Given the description of an element on the screen output the (x, y) to click on. 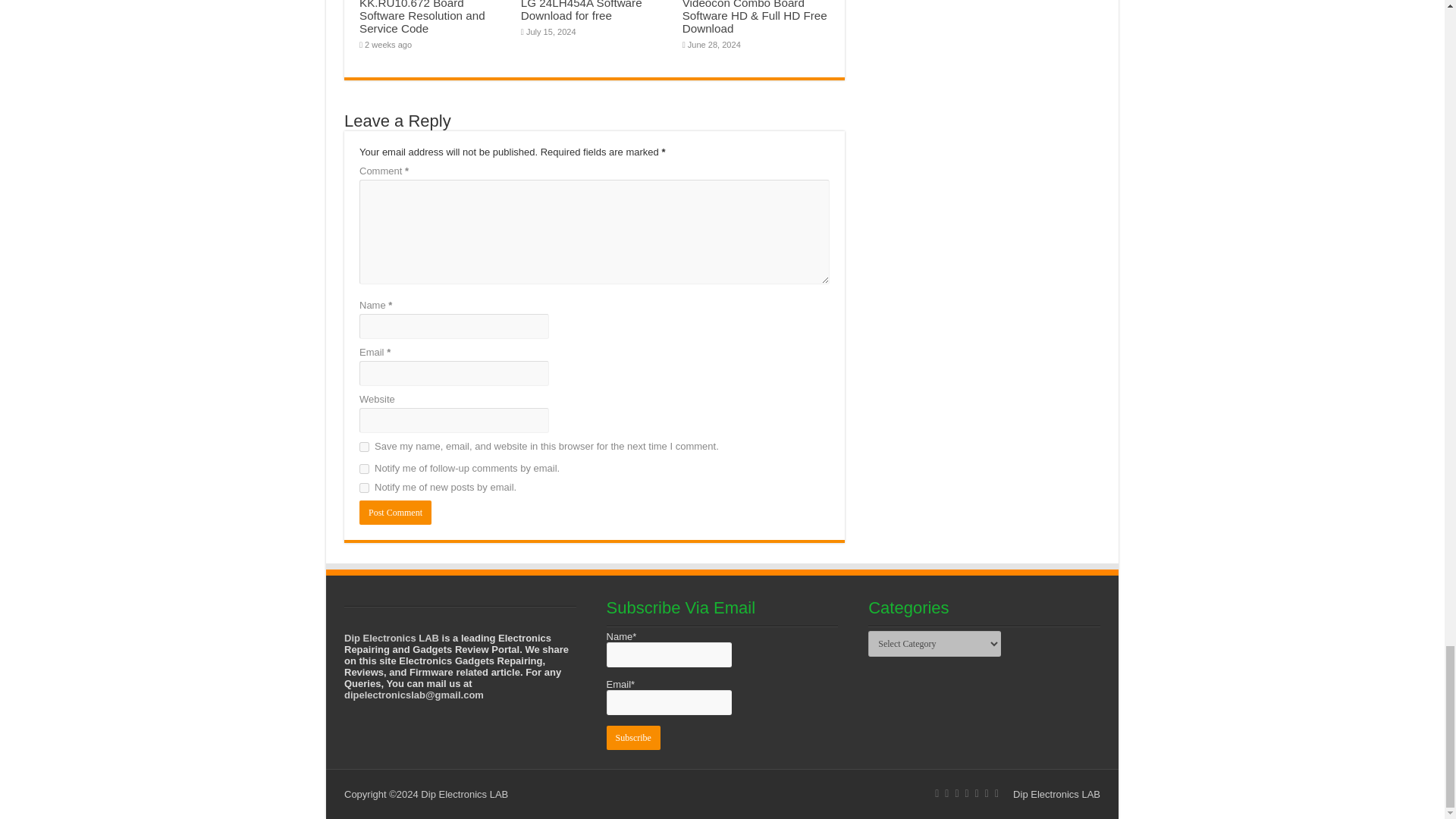
Subscribe (634, 737)
subscribe (364, 469)
Post Comment (394, 512)
subscribe (364, 488)
yes (364, 447)
